Given the description of an element on the screen output the (x, y) to click on. 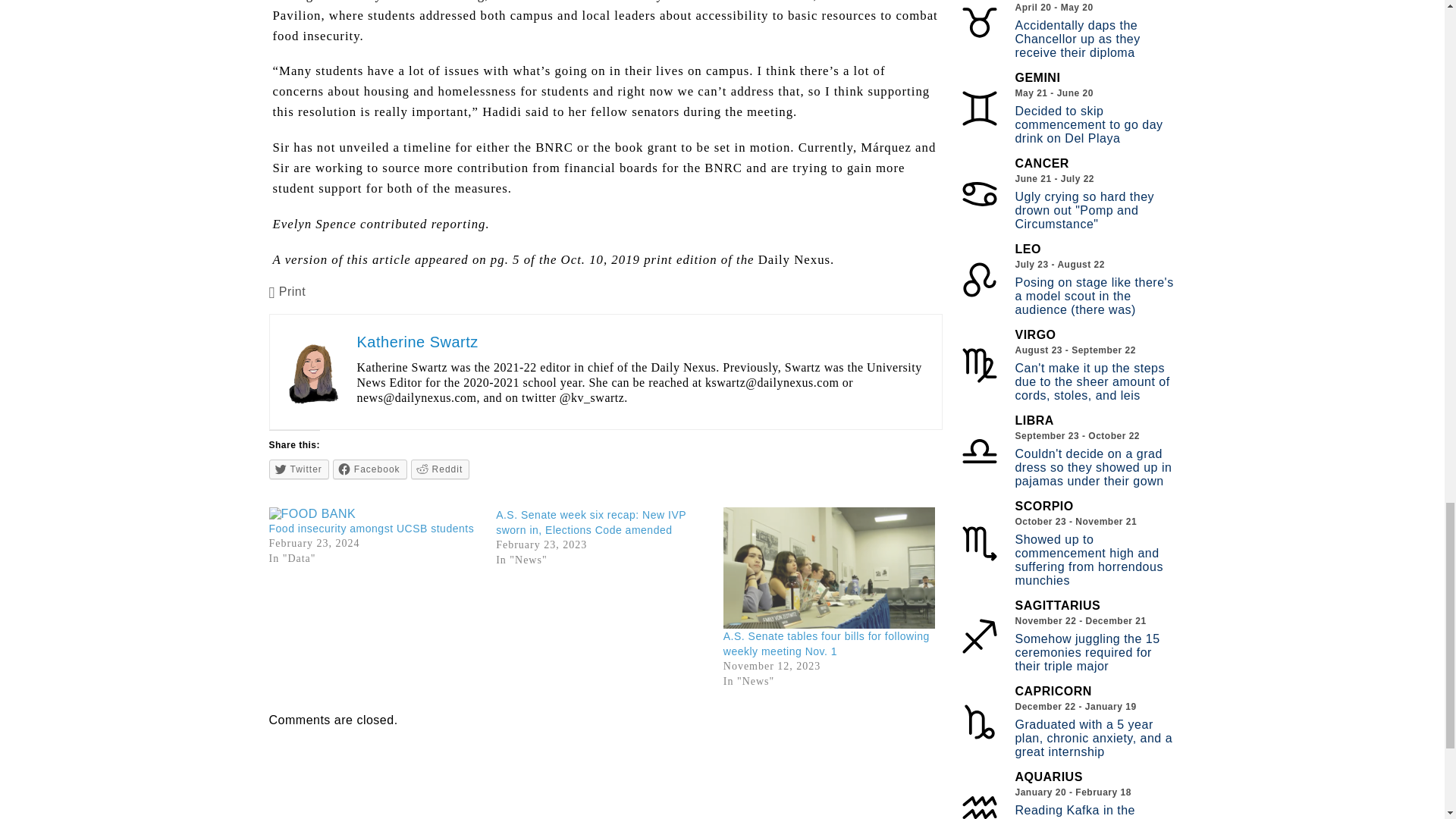
Food insecurity amongst UCSB students (371, 528)
Food insecurity amongst UCSB students (375, 513)
Click to share on Reddit (440, 469)
Click to share on Twitter (299, 469)
Click to share on Facebook (370, 469)
